Given the description of an element on the screen output the (x, y) to click on. 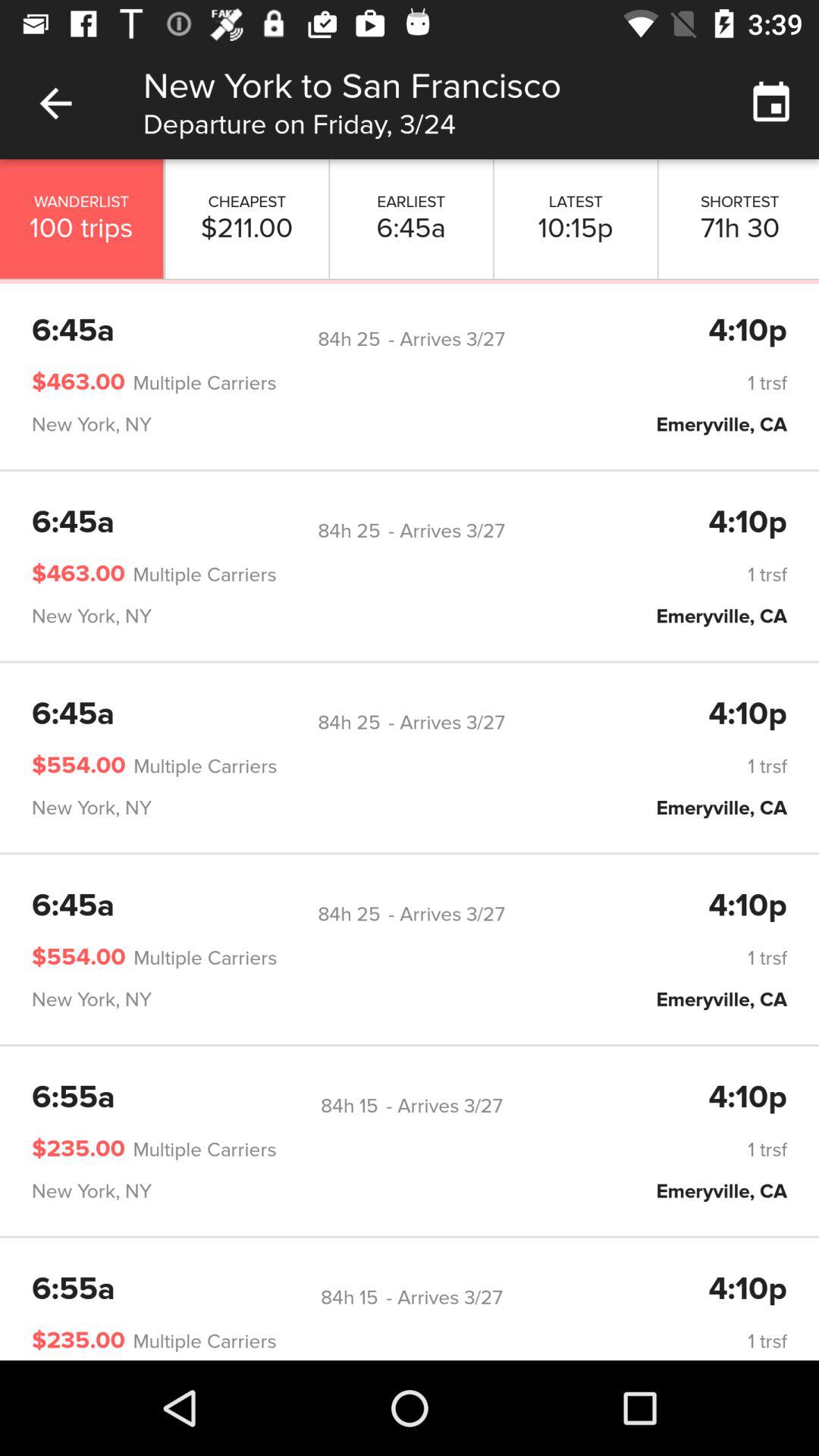
open the icon next to the new york to (55, 103)
